Given the description of an element on the screen output the (x, y) to click on. 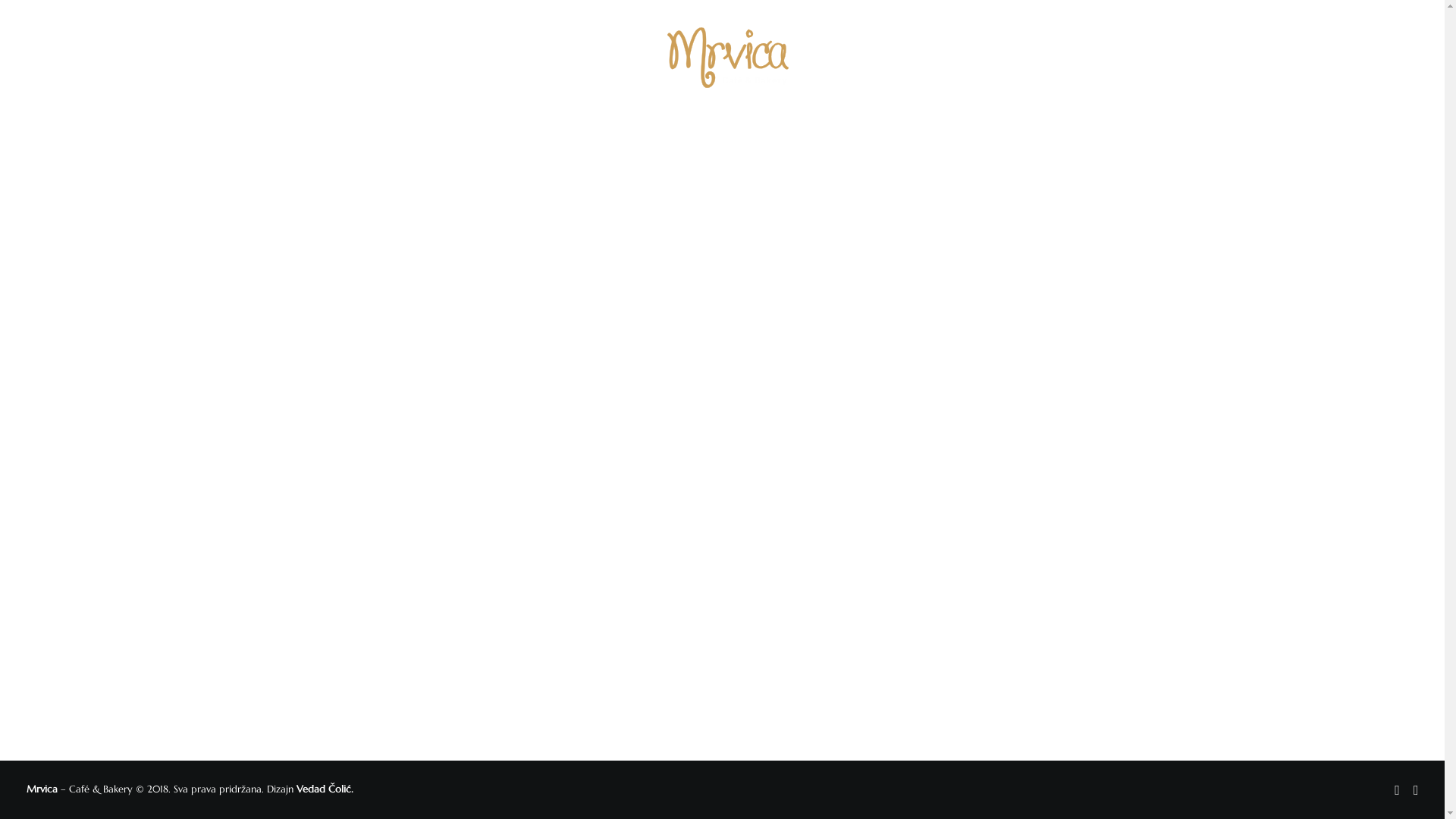
EXPORT & FACTORY Element type: text (875, 57)
cart Element type: hover (1407, 57)
HOME Element type: text (441, 57)
GALLERY Element type: text (968, 57)
ABOUT US Element type: text (504, 57)
CONTACT Element type: text (1035, 57)
